Given the description of an element on the screen output the (x, y) to click on. 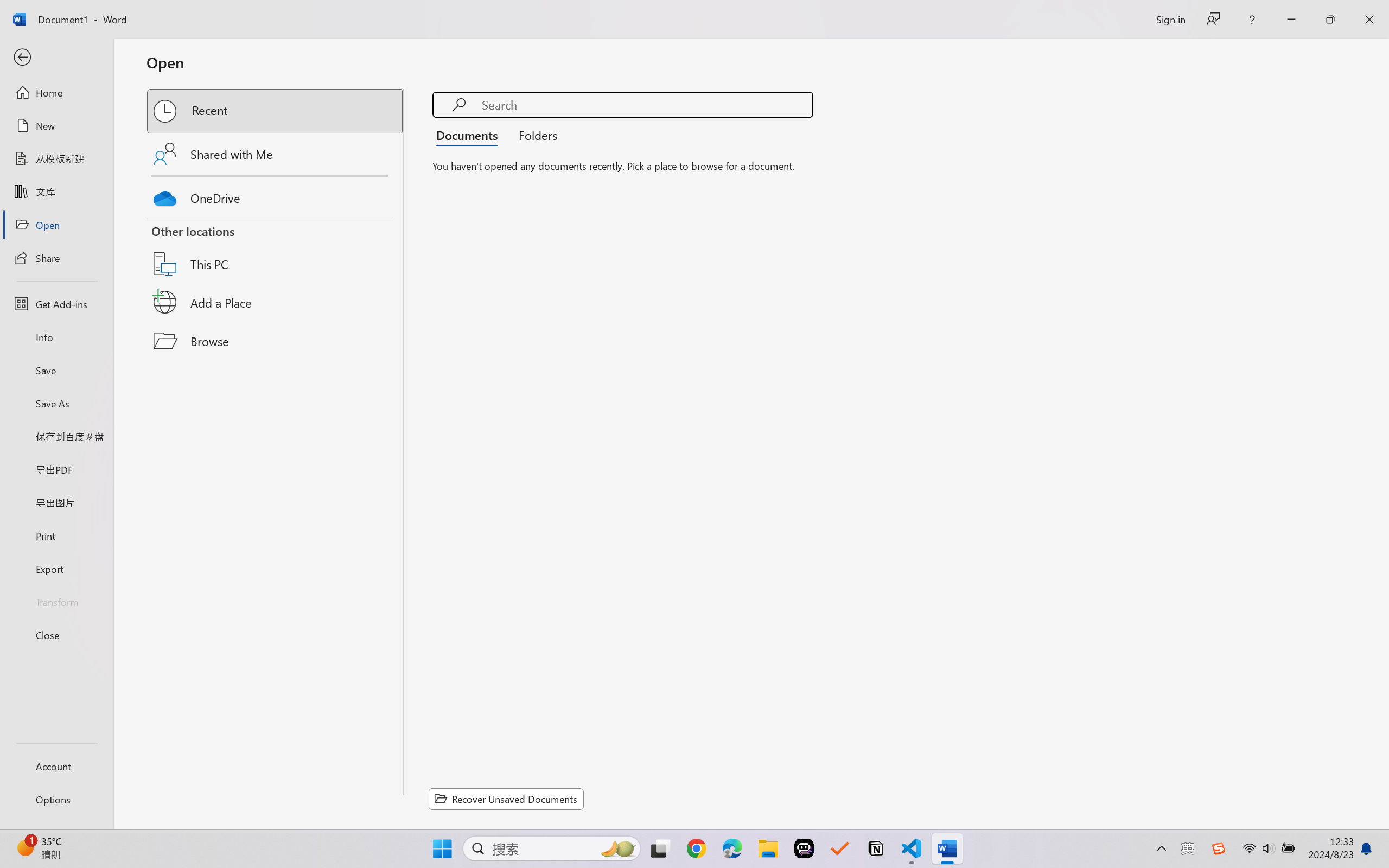
New (56, 125)
Export (56, 568)
Folders (534, 134)
Recent (275, 110)
Get Add-ins (56, 303)
Documents (469, 134)
Save As (56, 403)
